Given the description of an element on the screen output the (x, y) to click on. 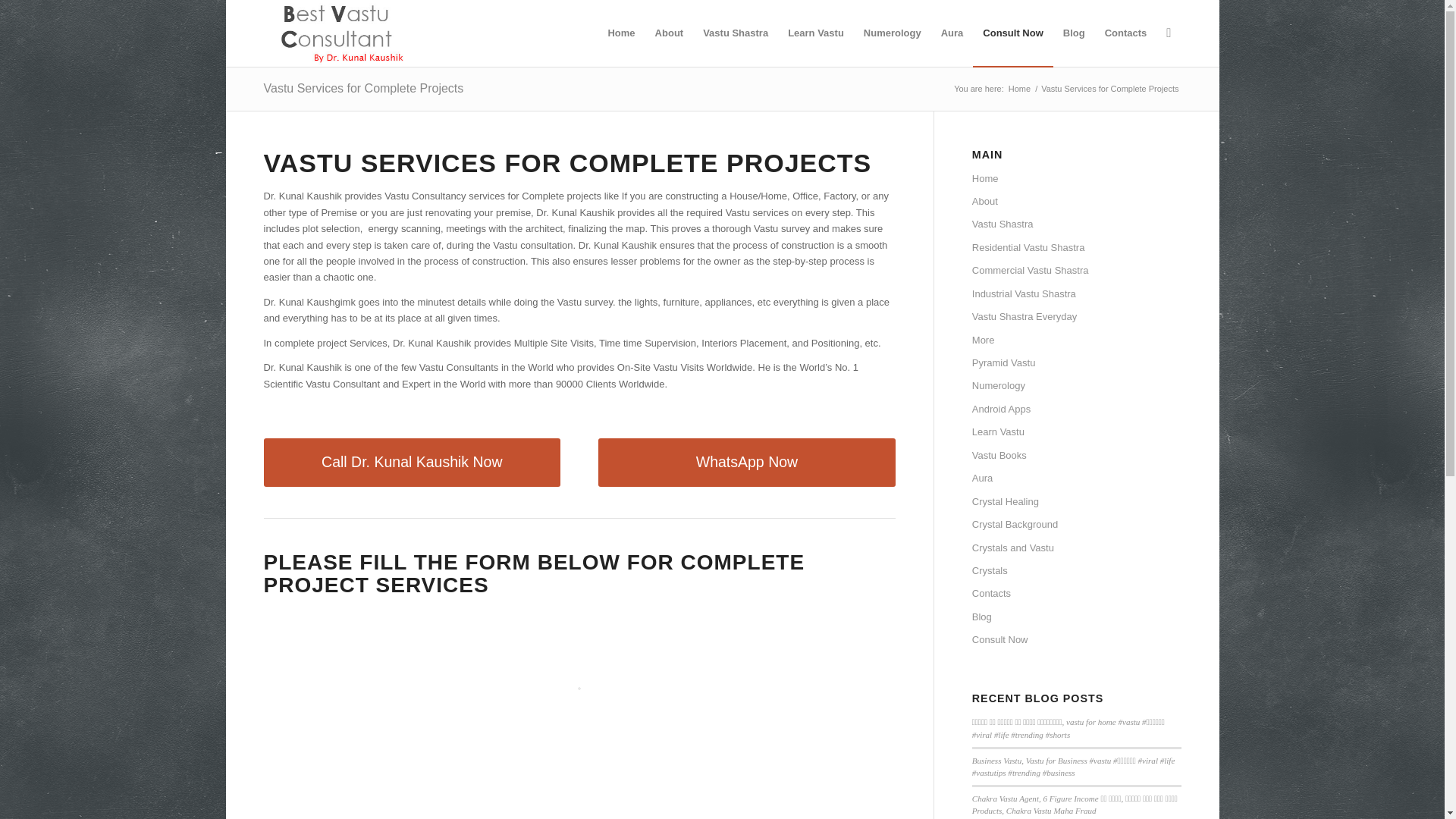
Permanent Link: Vastu Services for Complete Projects (363, 88)
Vastu Shastra (735, 33)
